Given the description of an element on the screen output the (x, y) to click on. 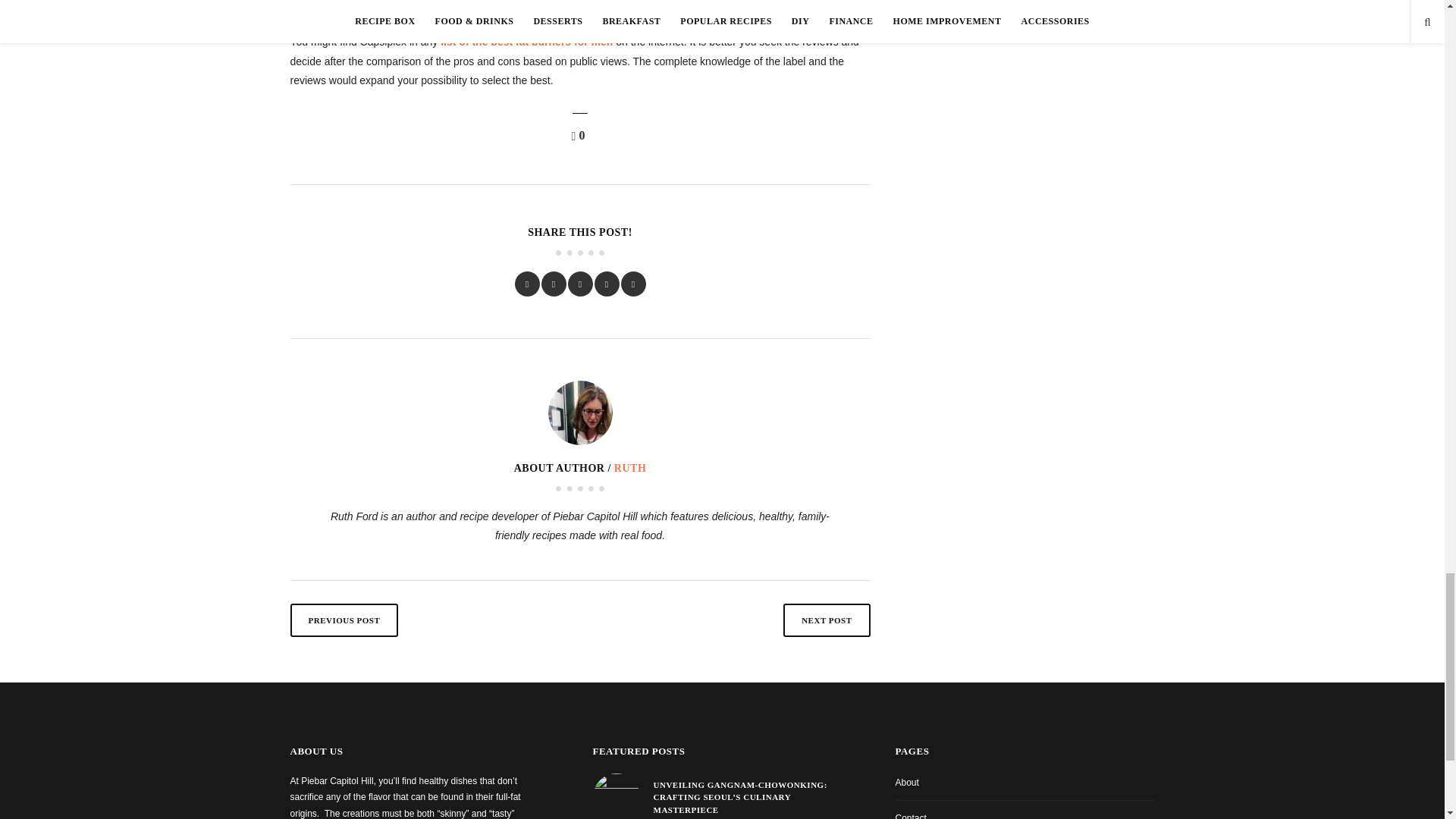
 0 (580, 135)
NEXT POST (826, 620)
Like (580, 135)
list of the best fat burners for men (526, 41)
PREVIOUS POST (343, 620)
Posts by Ruth (630, 468)
RUTH (630, 468)
